Given the description of an element on the screen output the (x, y) to click on. 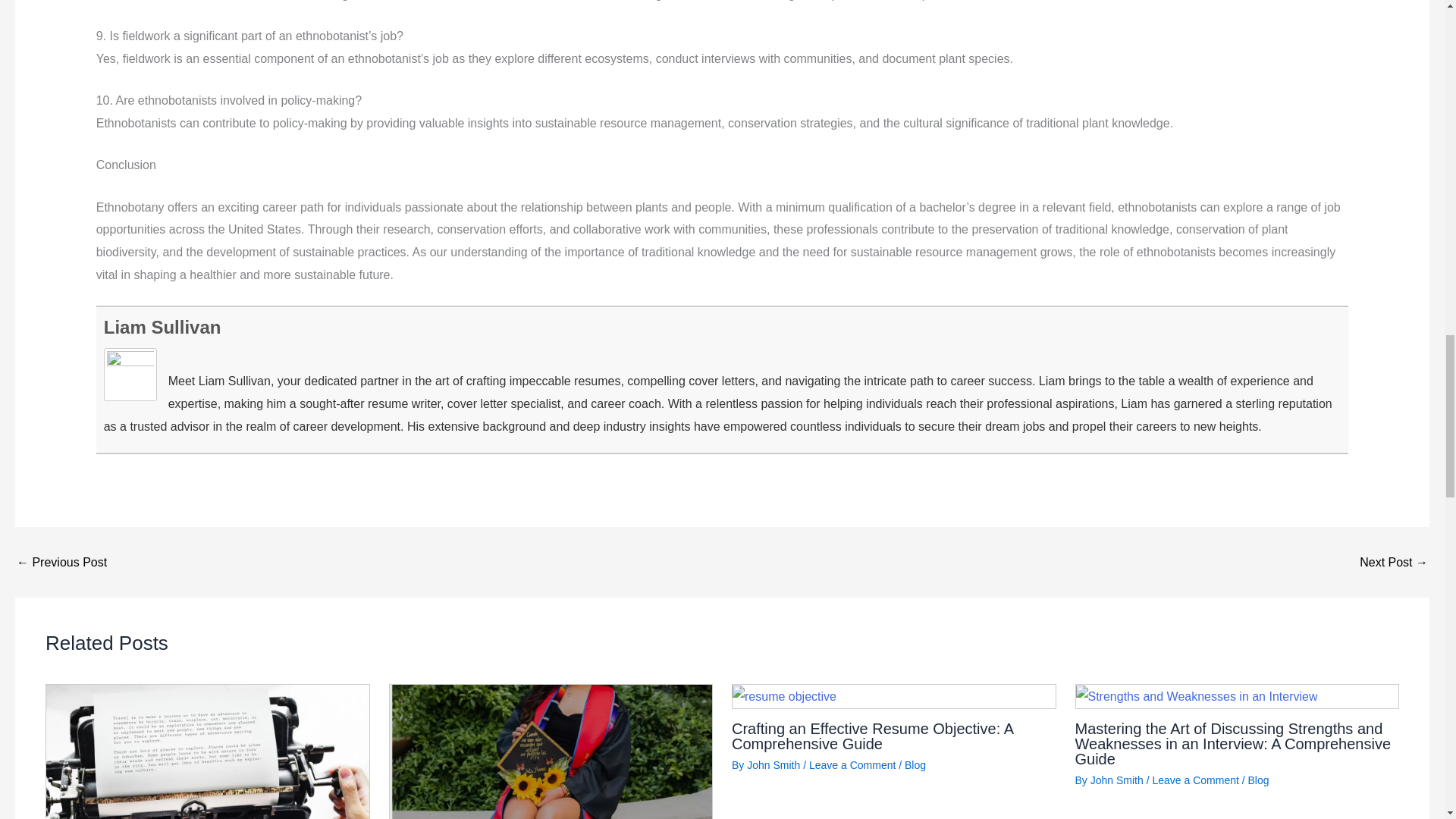
View all posts by John Smith (1116, 779)
Food Scientist (1393, 562)
Blockchain Developer Cover Letter Examples (61, 562)
All posts by Liam Sullivan (162, 326)
View all posts by John Smith (772, 765)
